Given the description of an element on the screen output the (x, y) to click on. 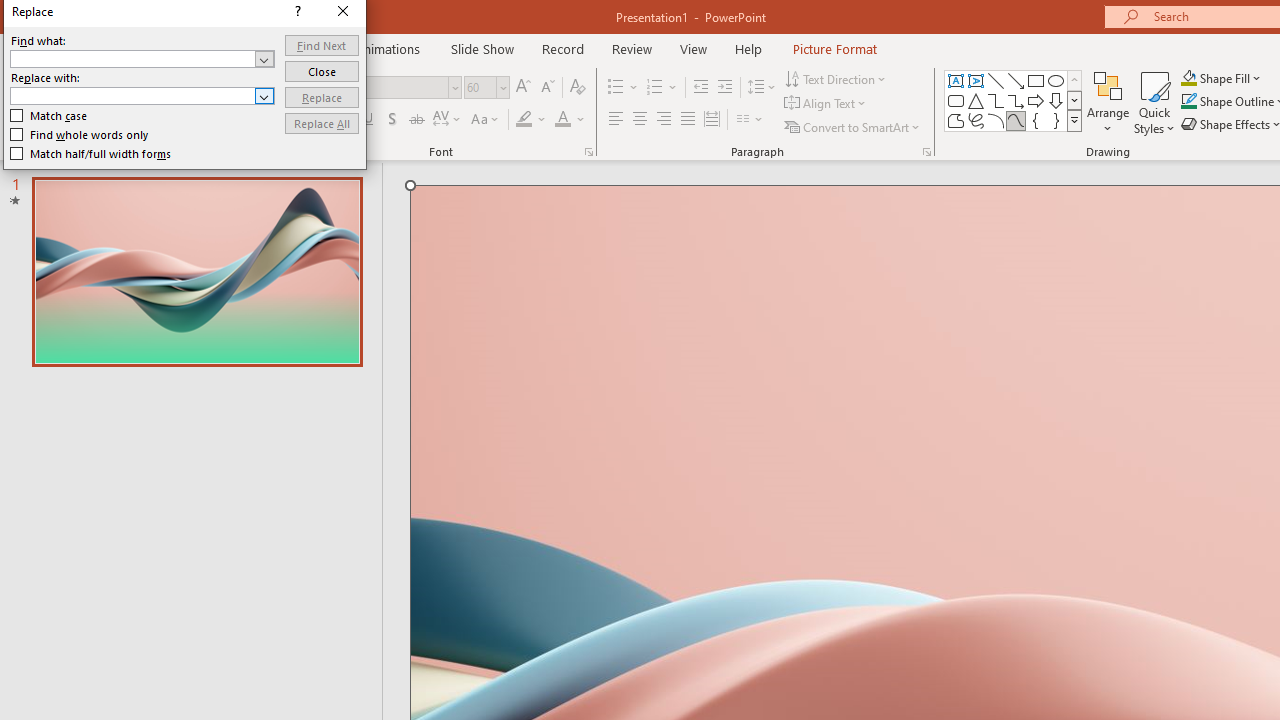
Shape Fill Orange, Accent 2 (1188, 78)
Distributed (712, 119)
Font... (588, 151)
Line (995, 80)
Replace with (142, 96)
Isosceles Triangle (975, 100)
Freeform: Scribble (975, 120)
Right Brace (1055, 120)
Increase Indent (725, 87)
Increase Font Size (522, 87)
Decrease Font Size (547, 87)
